Given the description of an element on the screen output the (x, y) to click on. 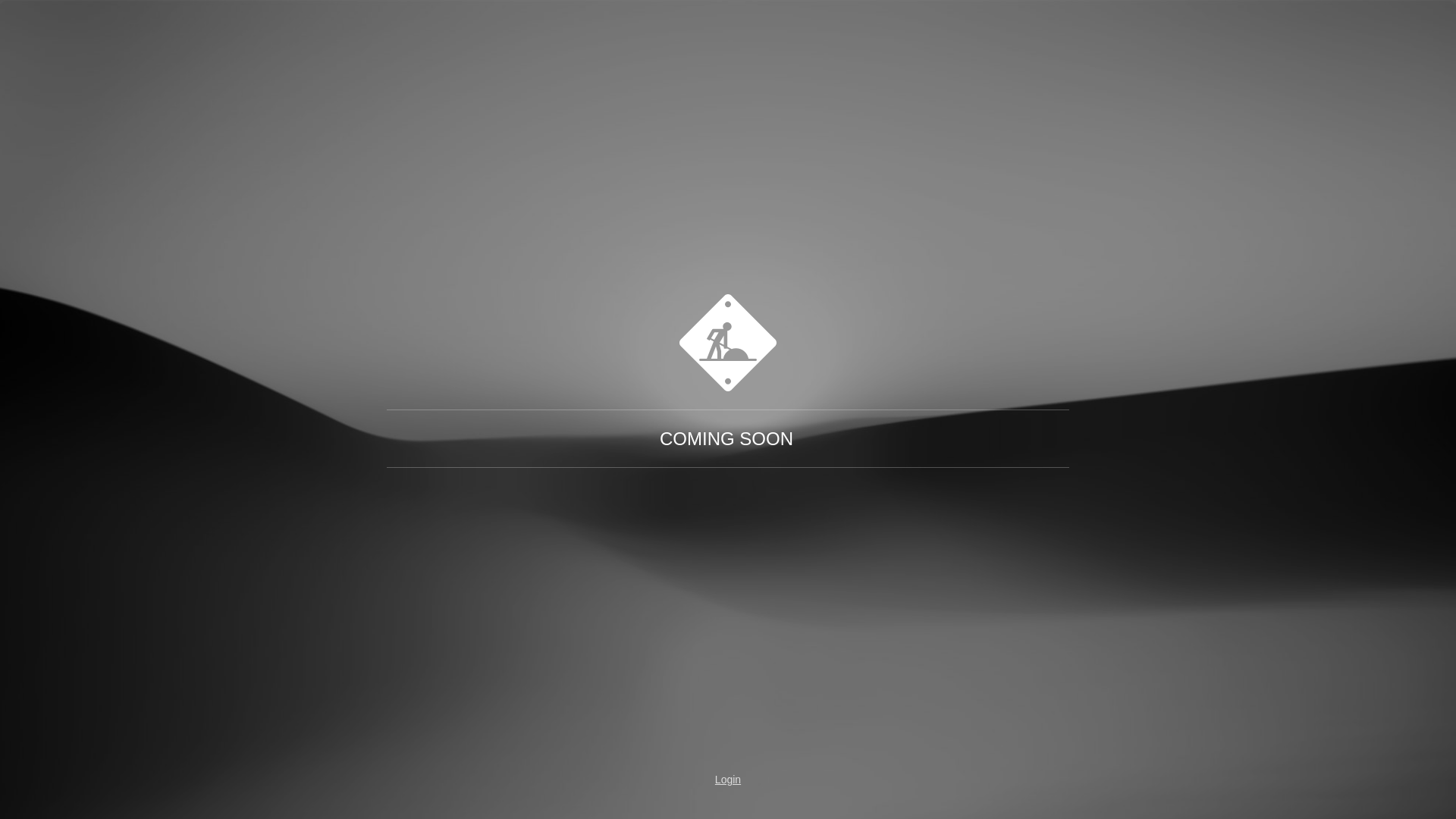
Login Element type: text (727, 779)
